Given the description of an element on the screen output the (x, y) to click on. 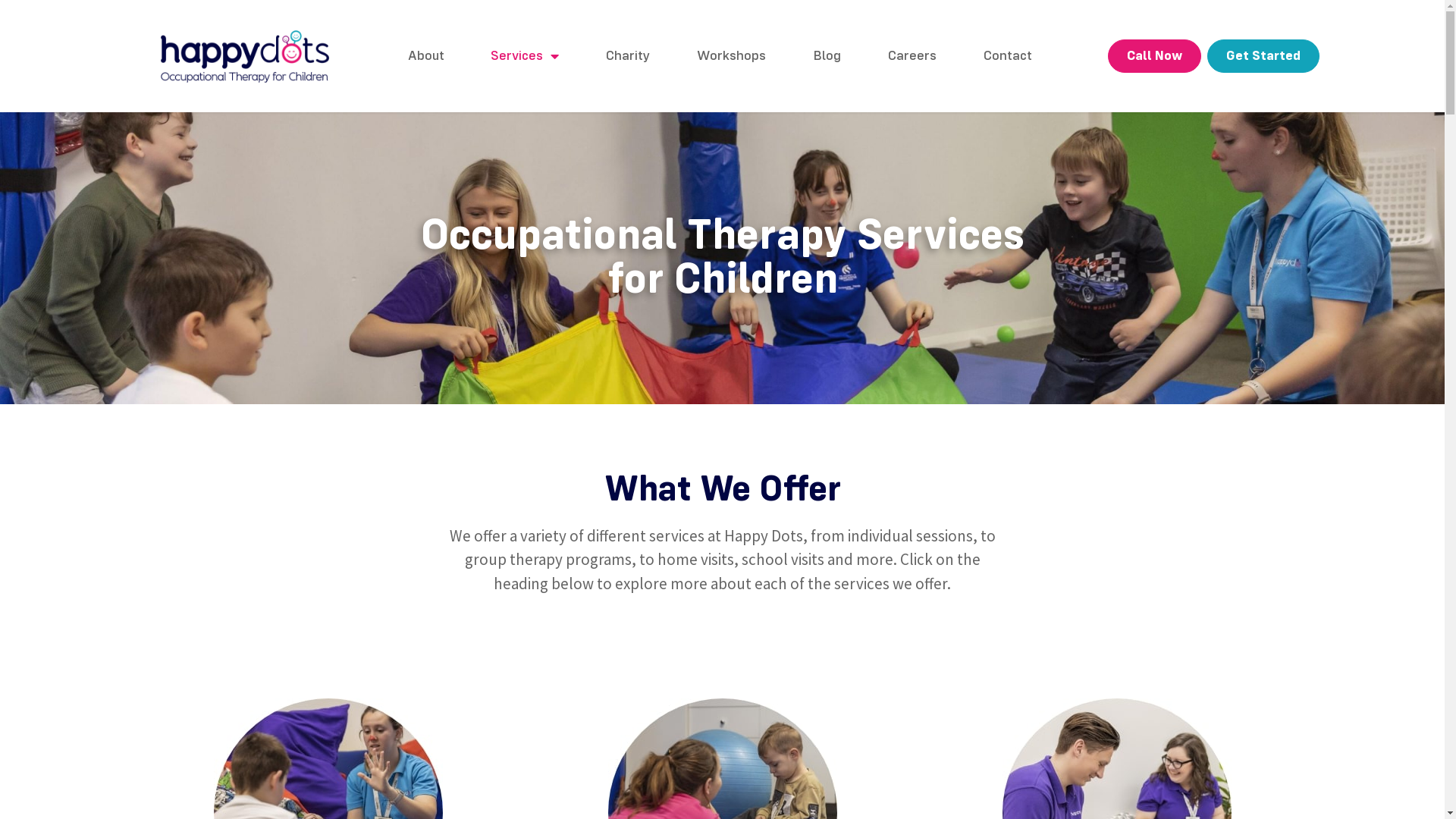
Services Element type: text (525, 55)
Charity Element type: text (627, 55)
Workshops Element type: text (731, 55)
About Element type: text (425, 55)
Careers Element type: text (912, 55)
Contact Element type: text (1007, 55)
Blog Element type: text (826, 55)
Call Now Element type: text (1154, 55)
Get Started Element type: text (1263, 55)
